Given the description of an element on the screen output the (x, y) to click on. 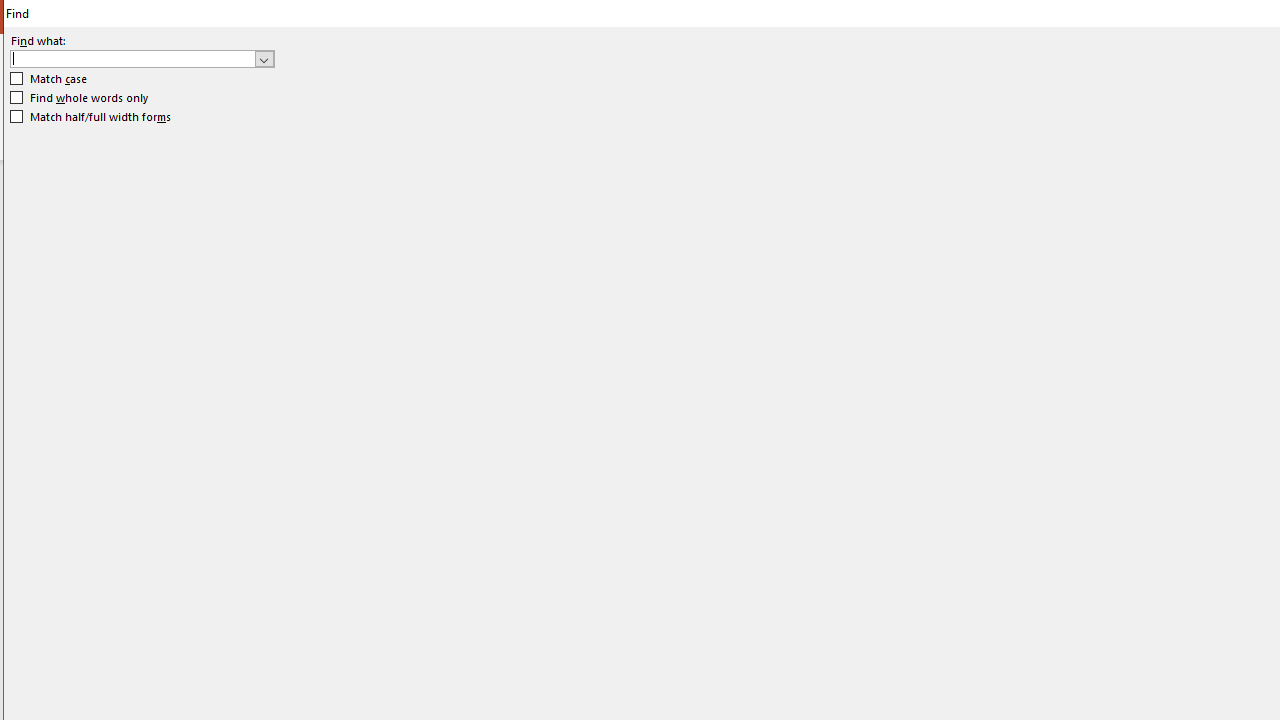
Match case (49, 79)
Find whole words only (79, 97)
Find what (142, 58)
Match half/full width forms (91, 116)
Find what (132, 58)
